Given the description of an element on the screen output the (x, y) to click on. 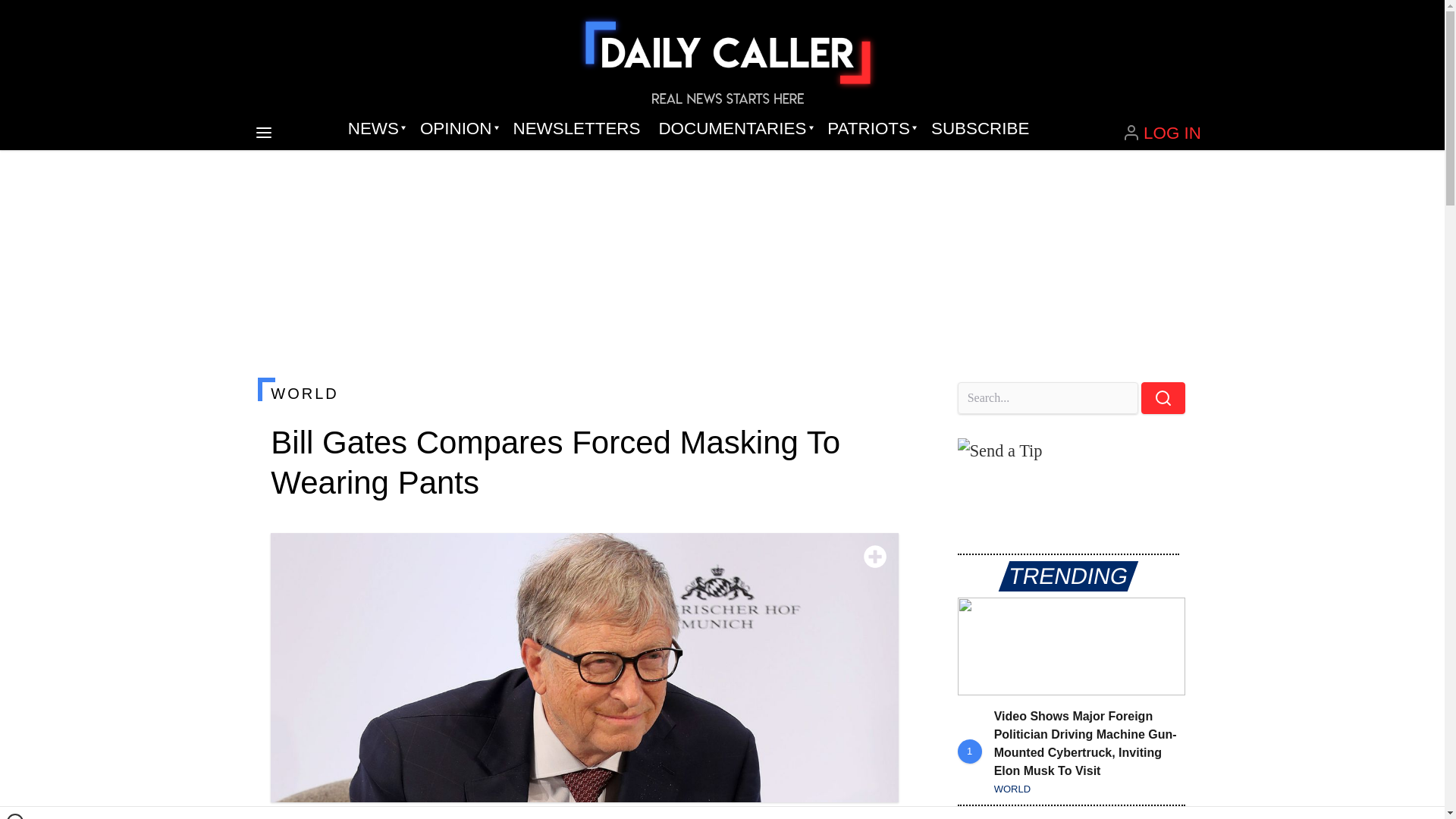
OPINION (456, 128)
NEWS (374, 128)
PATRIOTS (869, 128)
WORLD (584, 393)
DOCUMENTARIES (733, 128)
SUBSCRIBE (979, 128)
NEWSLETTERS (576, 128)
Toggle fullscreen (874, 556)
